Given the description of an element on the screen output the (x, y) to click on. 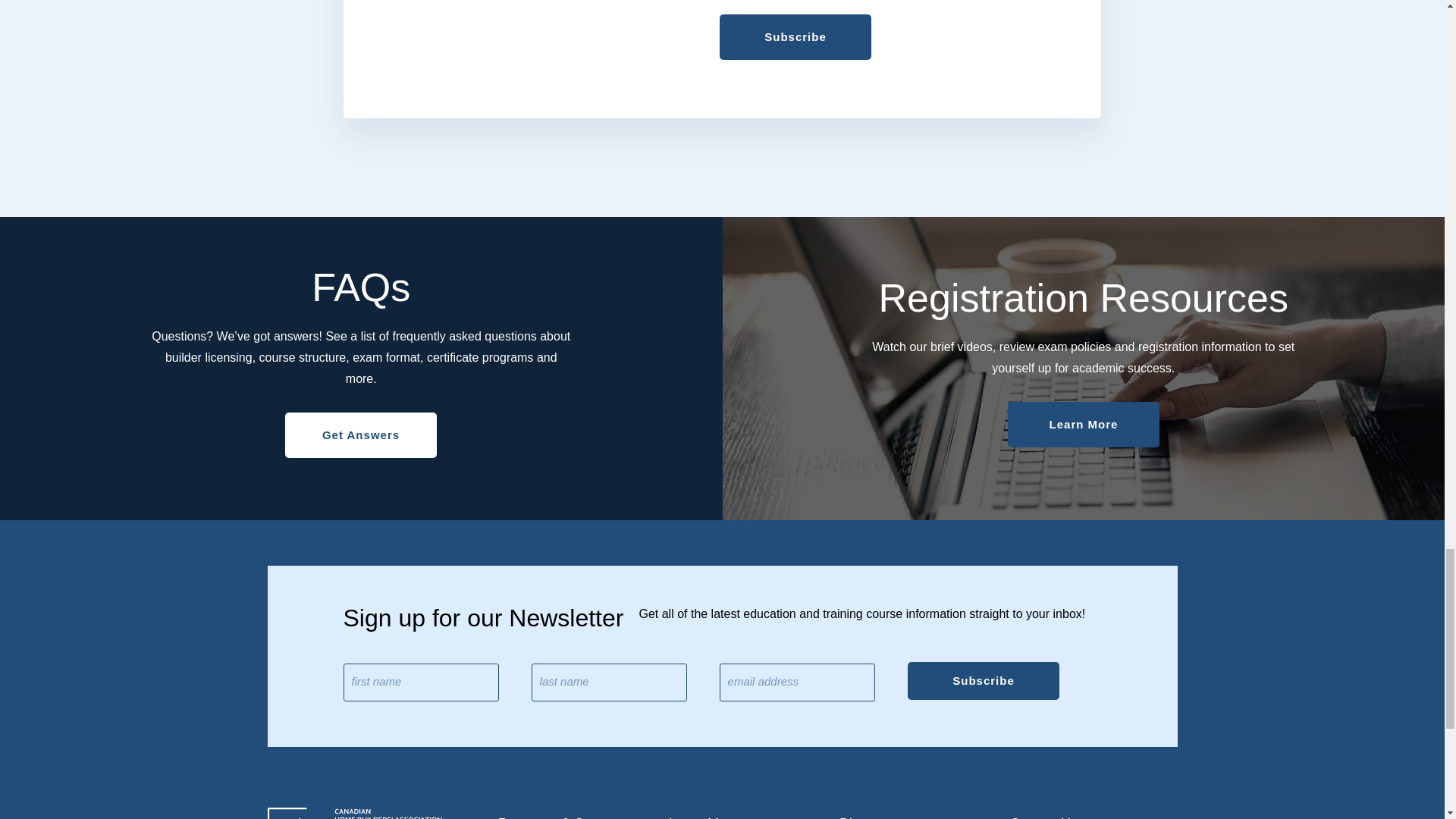
Subscribe (983, 680)
Subscribe (983, 680)
Subscribe (794, 36)
Get Answers (360, 434)
Subscribe (794, 36)
Learn More (1082, 424)
